Given the description of an element on the screen output the (x, y) to click on. 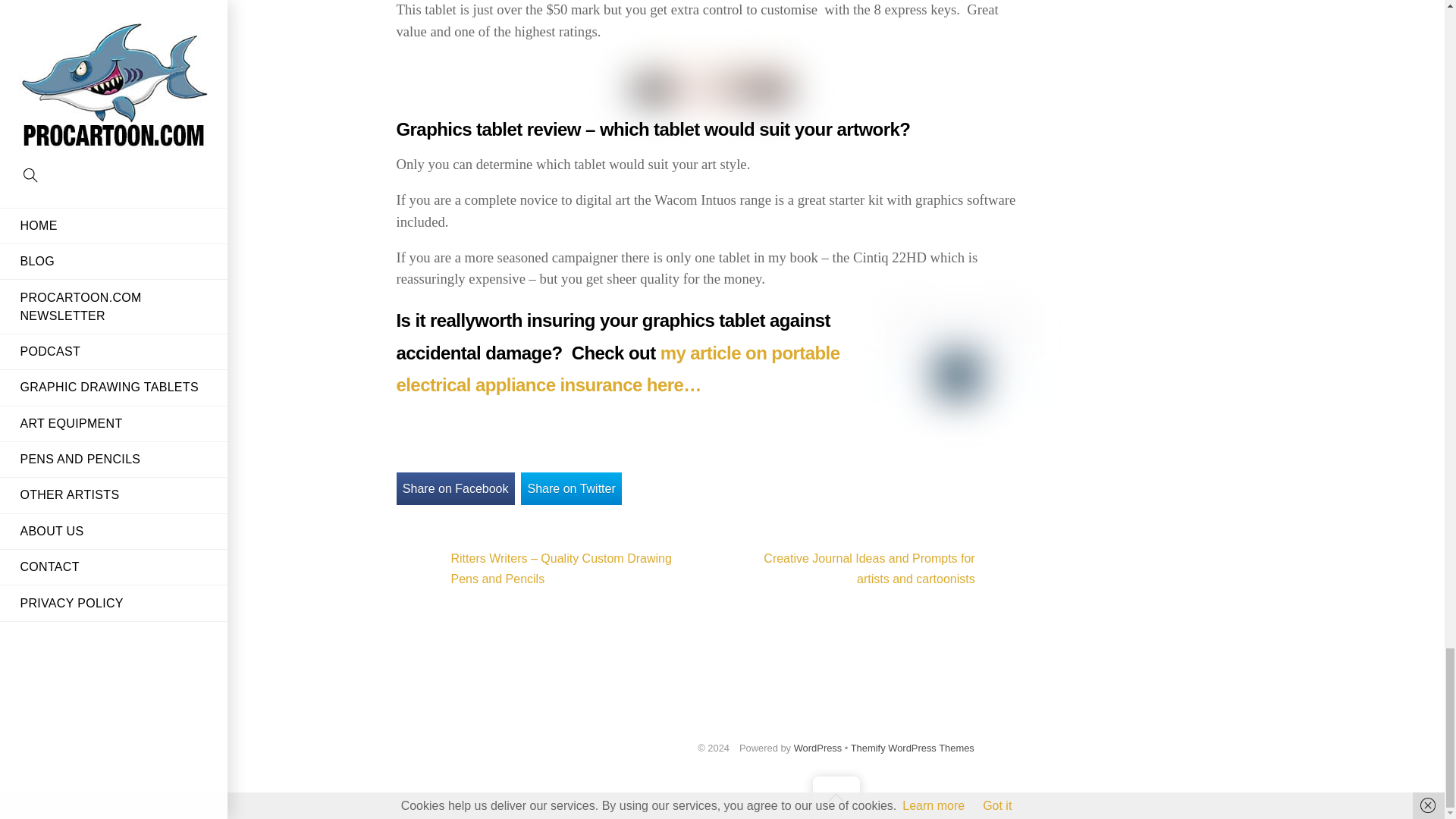
Share on Twitter (571, 488)
Share on Facebook (454, 488)
